Given the description of an element on the screen output the (x, y) to click on. 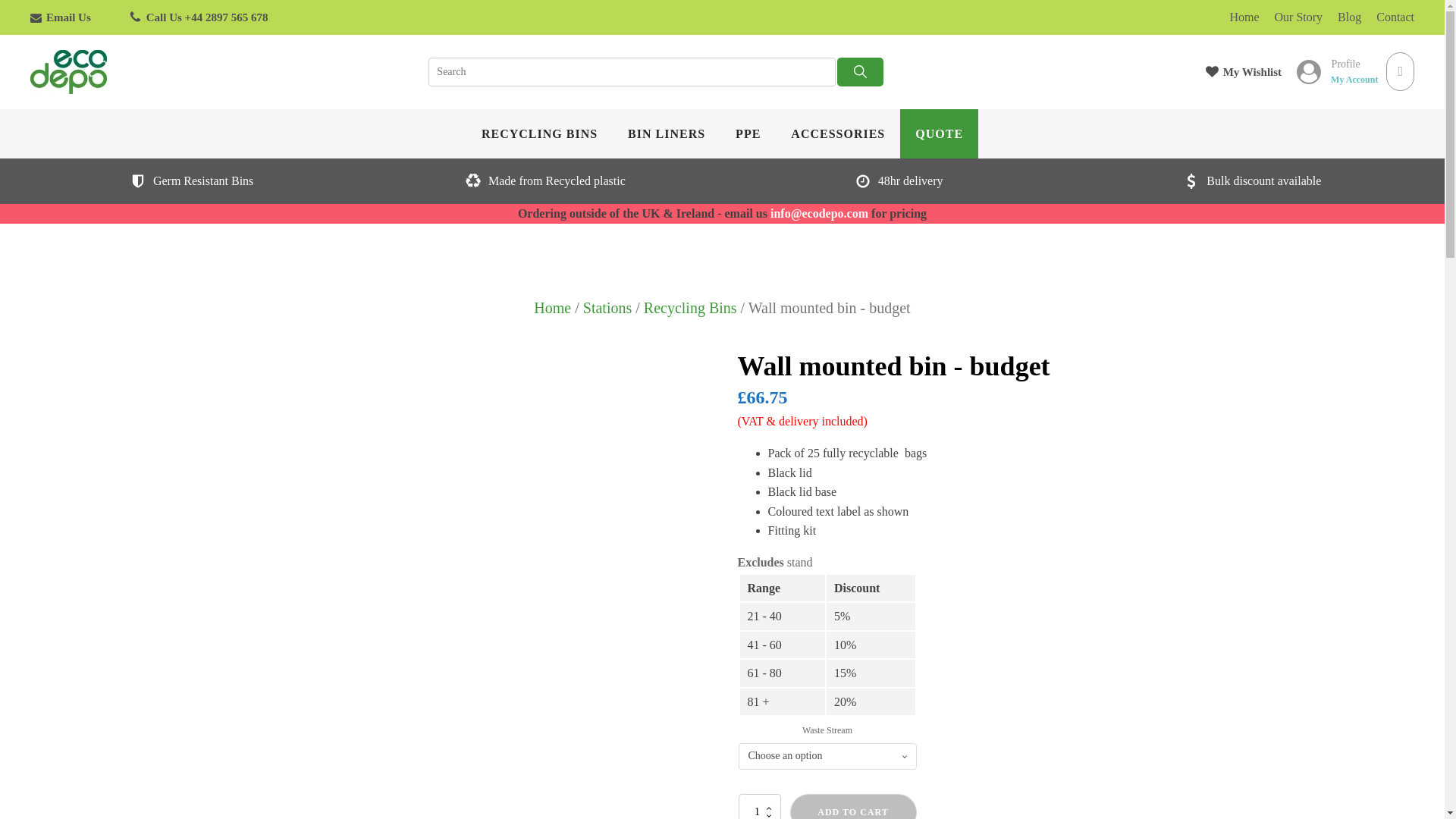
Our Story (1291, 17)
PPE (748, 133)
SEARCH (860, 71)
QUOTE (938, 133)
Stations (607, 307)
ACCESSORIES (837, 133)
Home (1236, 17)
Recycling Bins (689, 307)
RECYCLING BINS (538, 133)
ADD TO CART (853, 806)
